Given the description of an element on the screen output the (x, y) to click on. 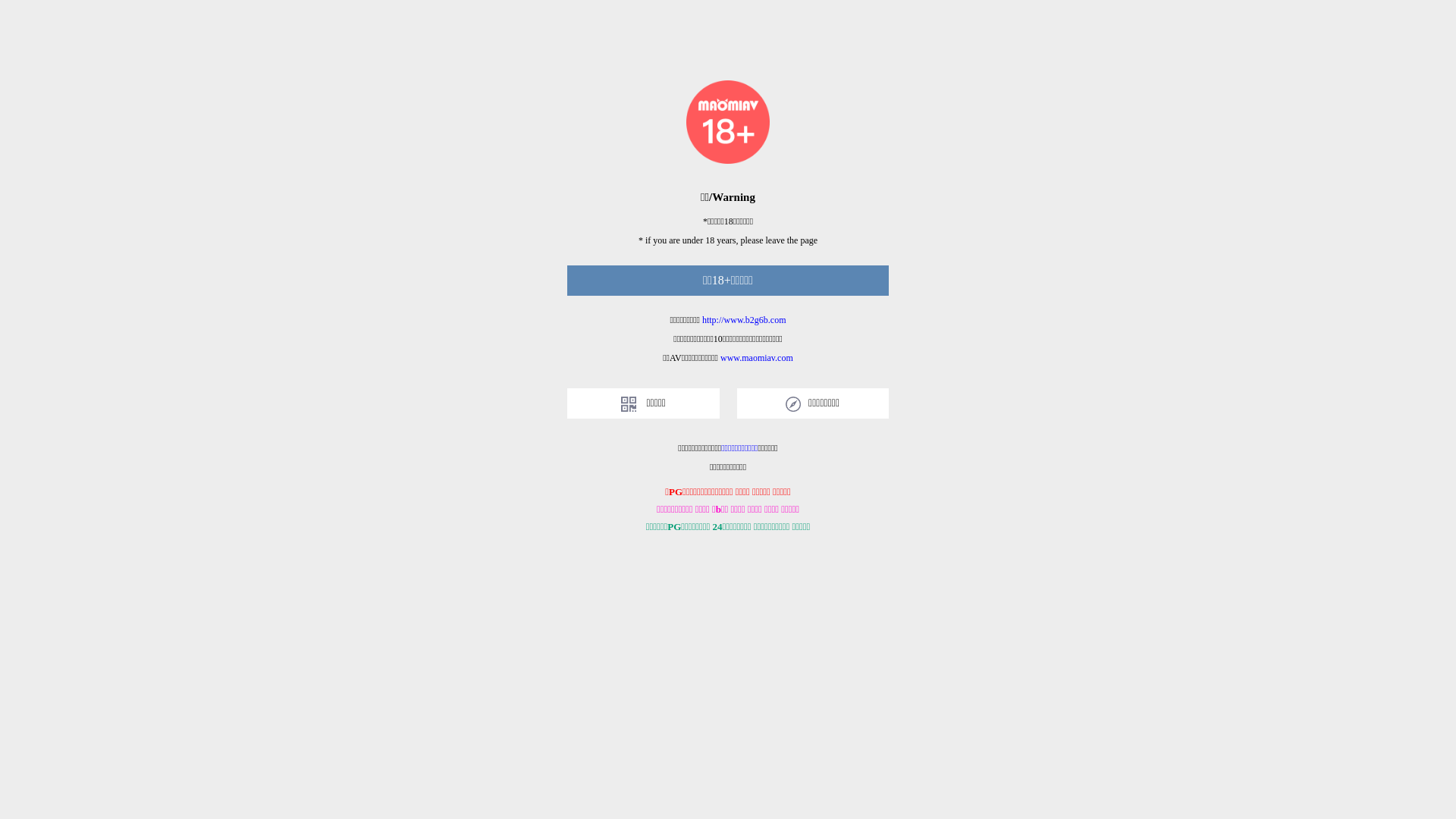
www.maomiav.com Element type: text (756, 357)
http://www.b2g6b.com Element type: text (744, 319)
